Given the description of an element on the screen output the (x, y) to click on. 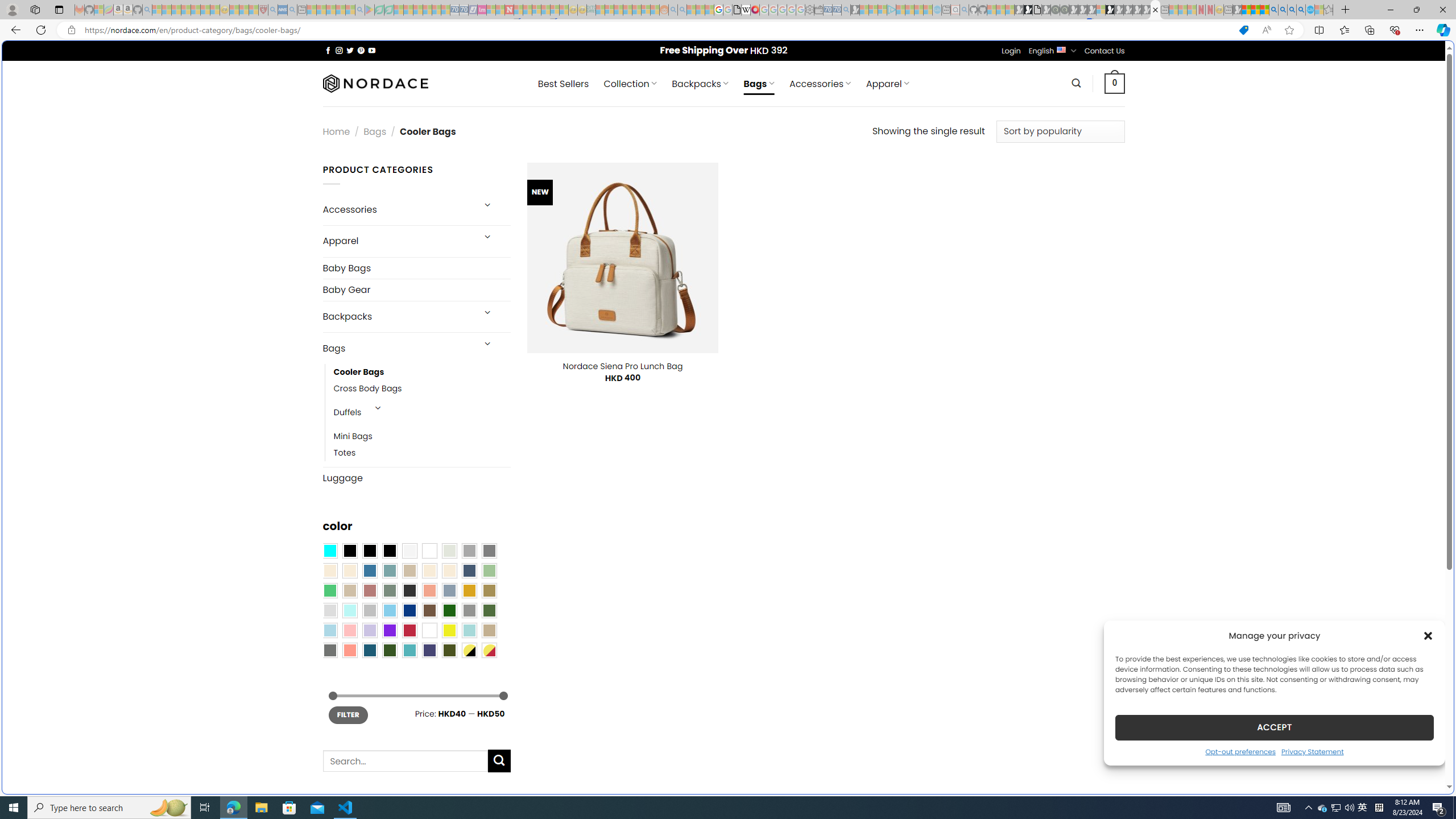
Totes (344, 452)
Follow on Pinterest (360, 49)
Cooler Bags (358, 371)
Contact Us (1104, 50)
Mini Bags (422, 436)
Mint (349, 610)
